Given the description of an element on the screen output the (x, y) to click on. 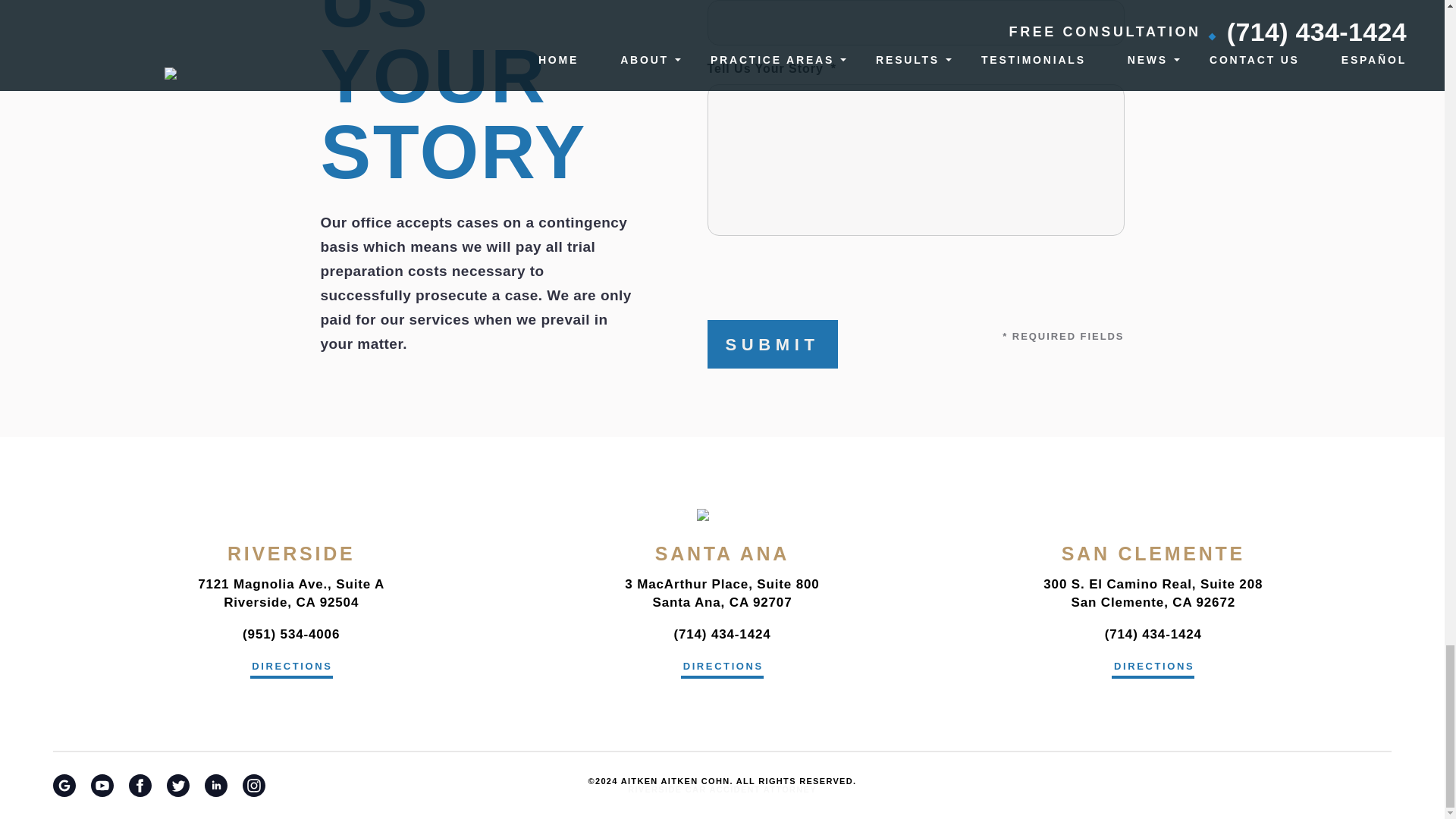
Submit (771, 344)
